Given the description of an element on the screen output the (x, y) to click on. 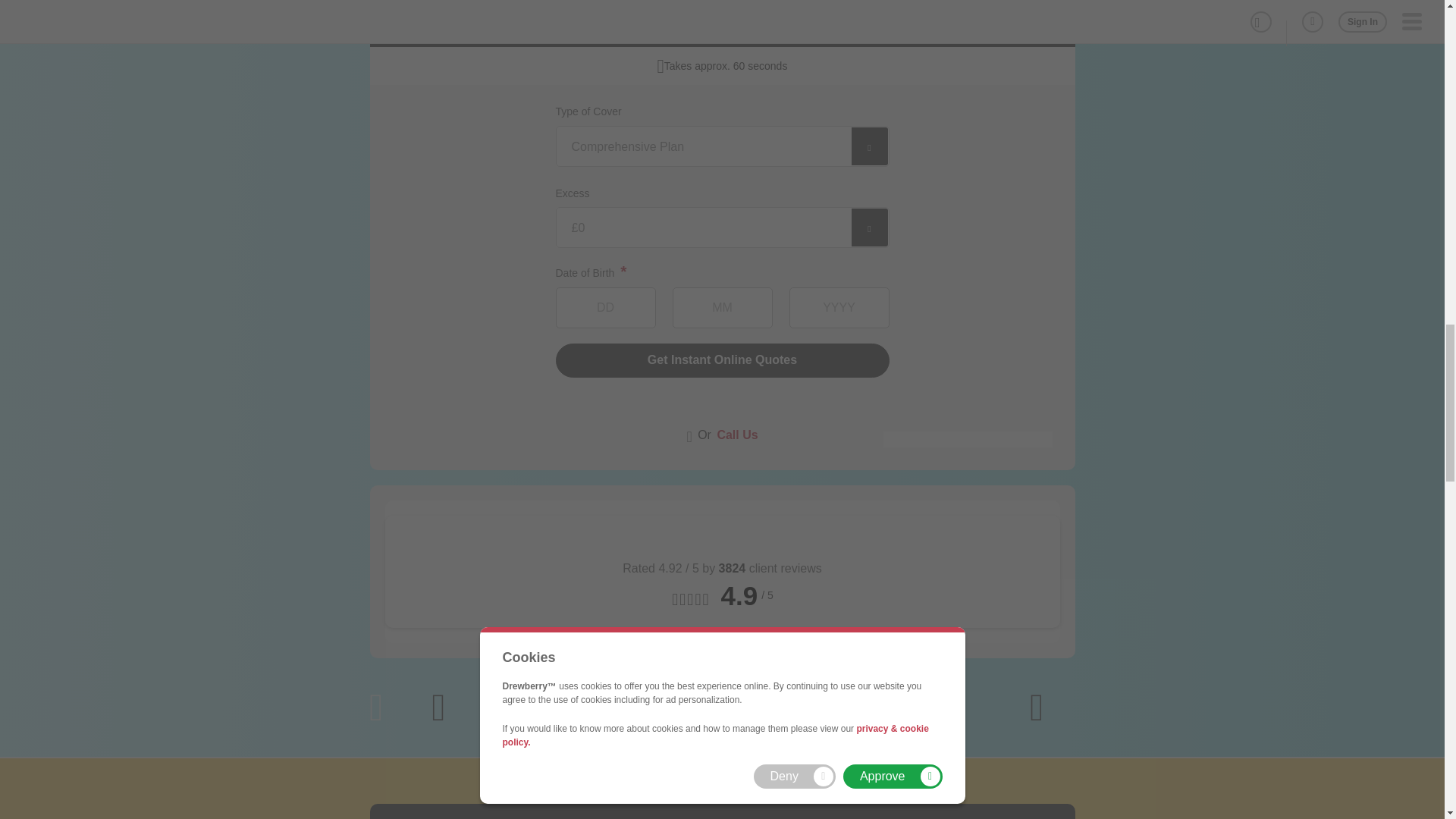
Get Instant Online Quotes (721, 359)
Get Instant Online Quotes (721, 359)
Call Us (736, 433)
